Given the description of an element on the screen output the (x, y) to click on. 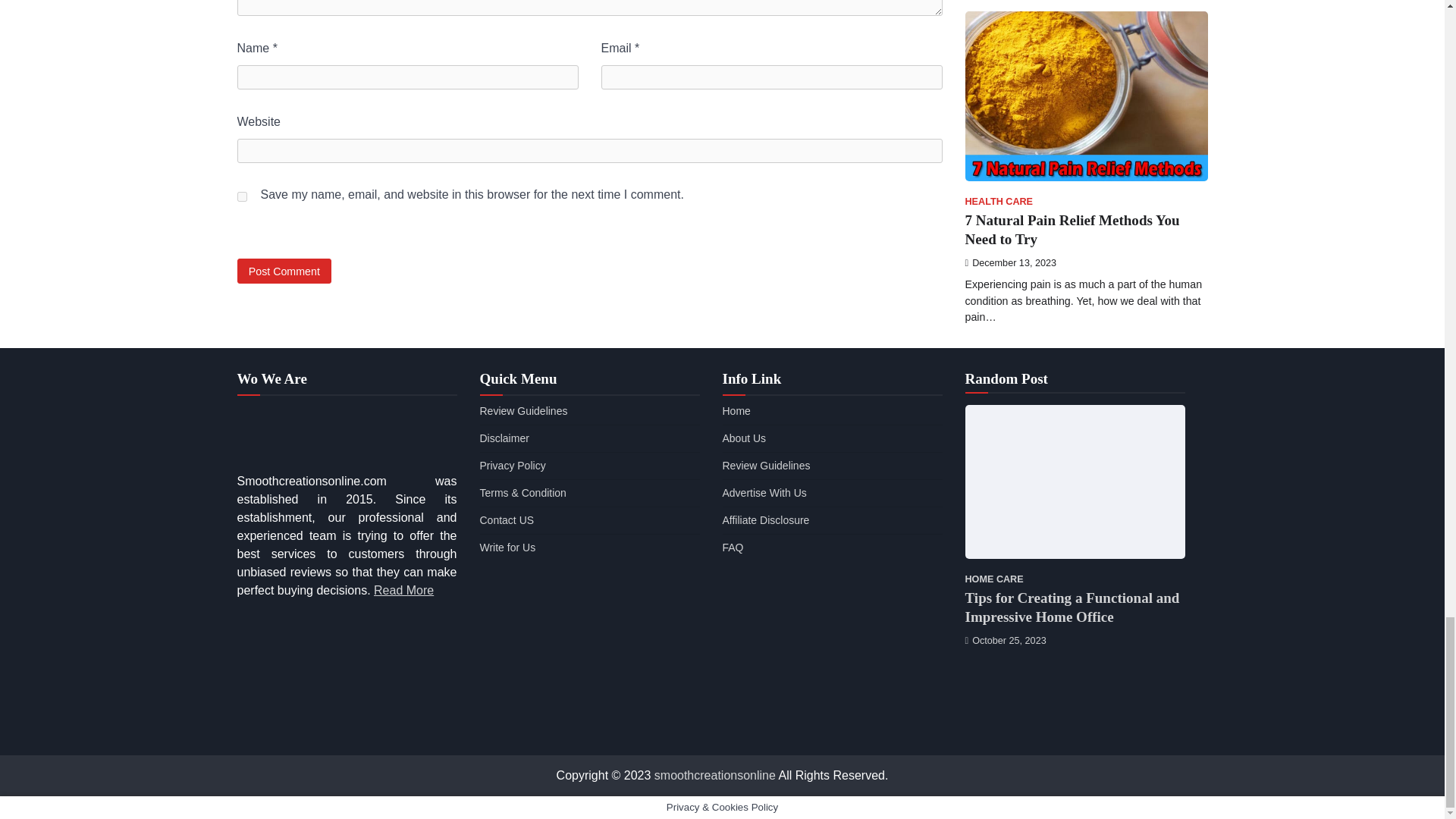
yes (240, 196)
Post Comment (283, 270)
Post Comment (283, 270)
DMCA.com Protection Status (346, 727)
